Given the description of an element on the screen output the (x, y) to click on. 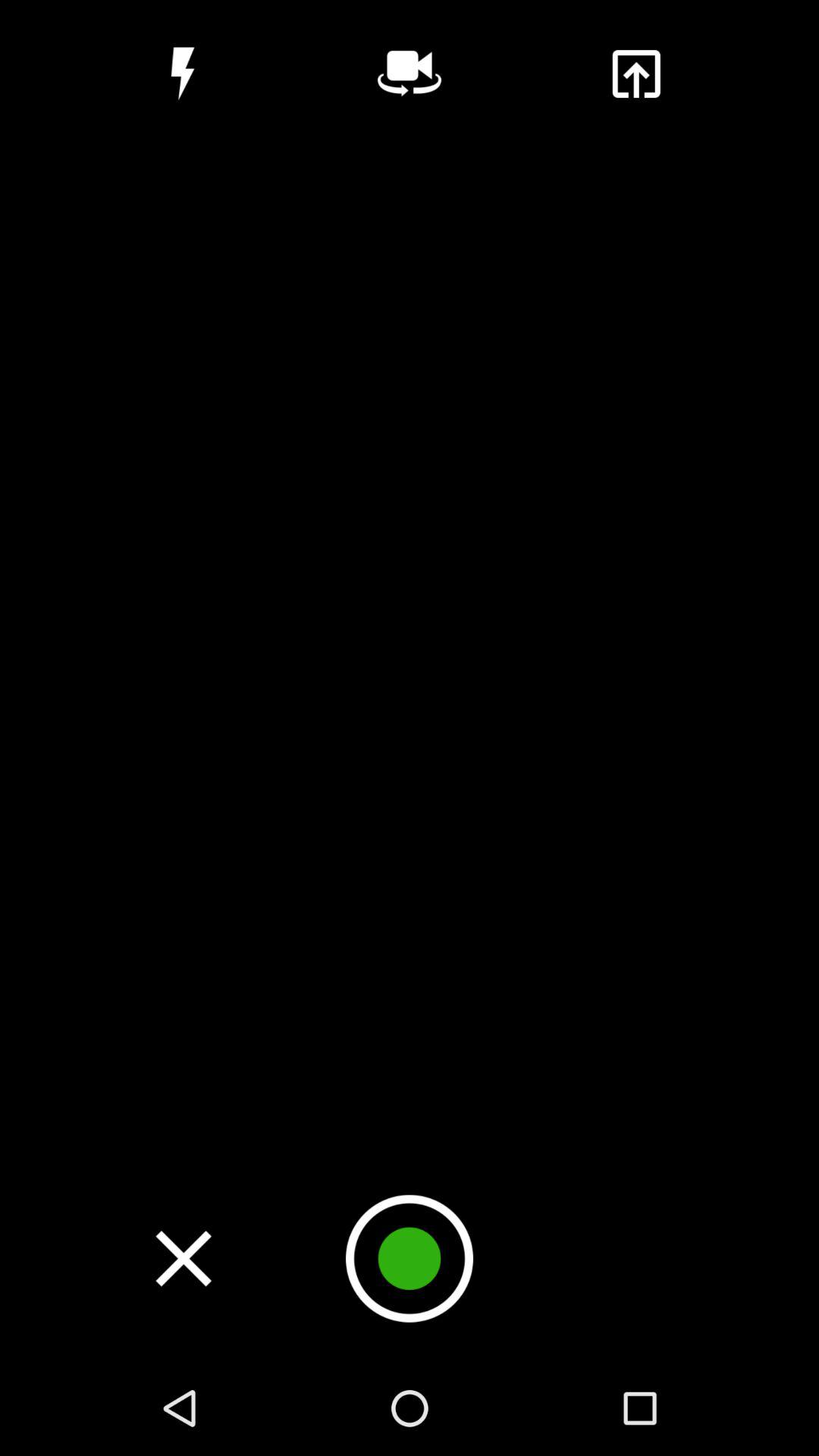
toggle cancel (183, 1258)
